Given the description of an element on the screen output the (x, y) to click on. 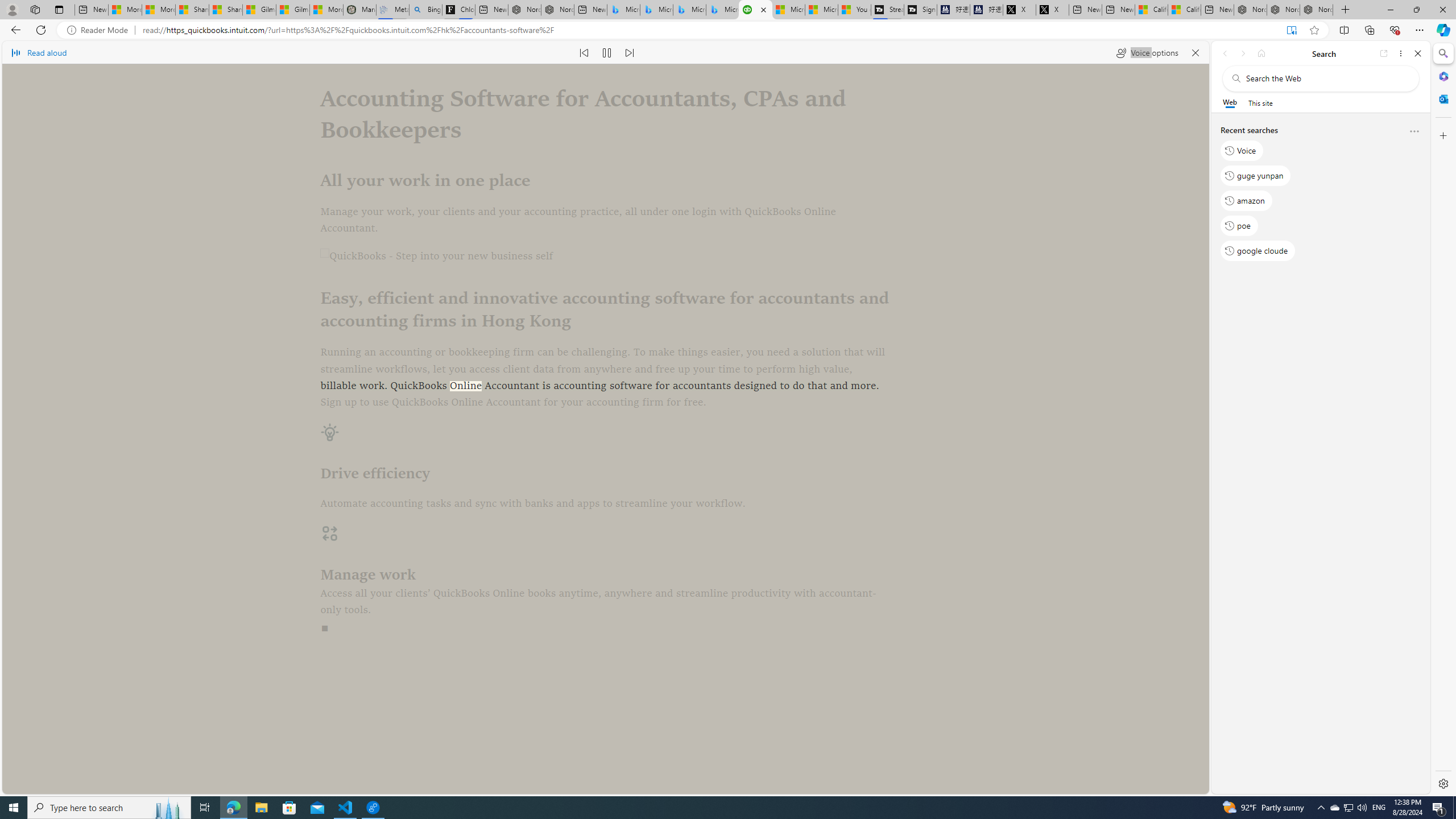
Manatee Mortality Statistics | FWC (359, 9)
poe (1238, 225)
Side bar (1443, 418)
Accounting Software for Accountants, CPAs and Bookkeepers (755, 9)
Voice options (1146, 52)
Recent searchesVoiceguge yunpanamazonpoegoogle cloude (1320, 194)
Read next paragraph (628, 52)
Chloe Sorvino (458, 9)
Open link in new tab (1383, 53)
